Given the description of an element on the screen output the (x, y) to click on. 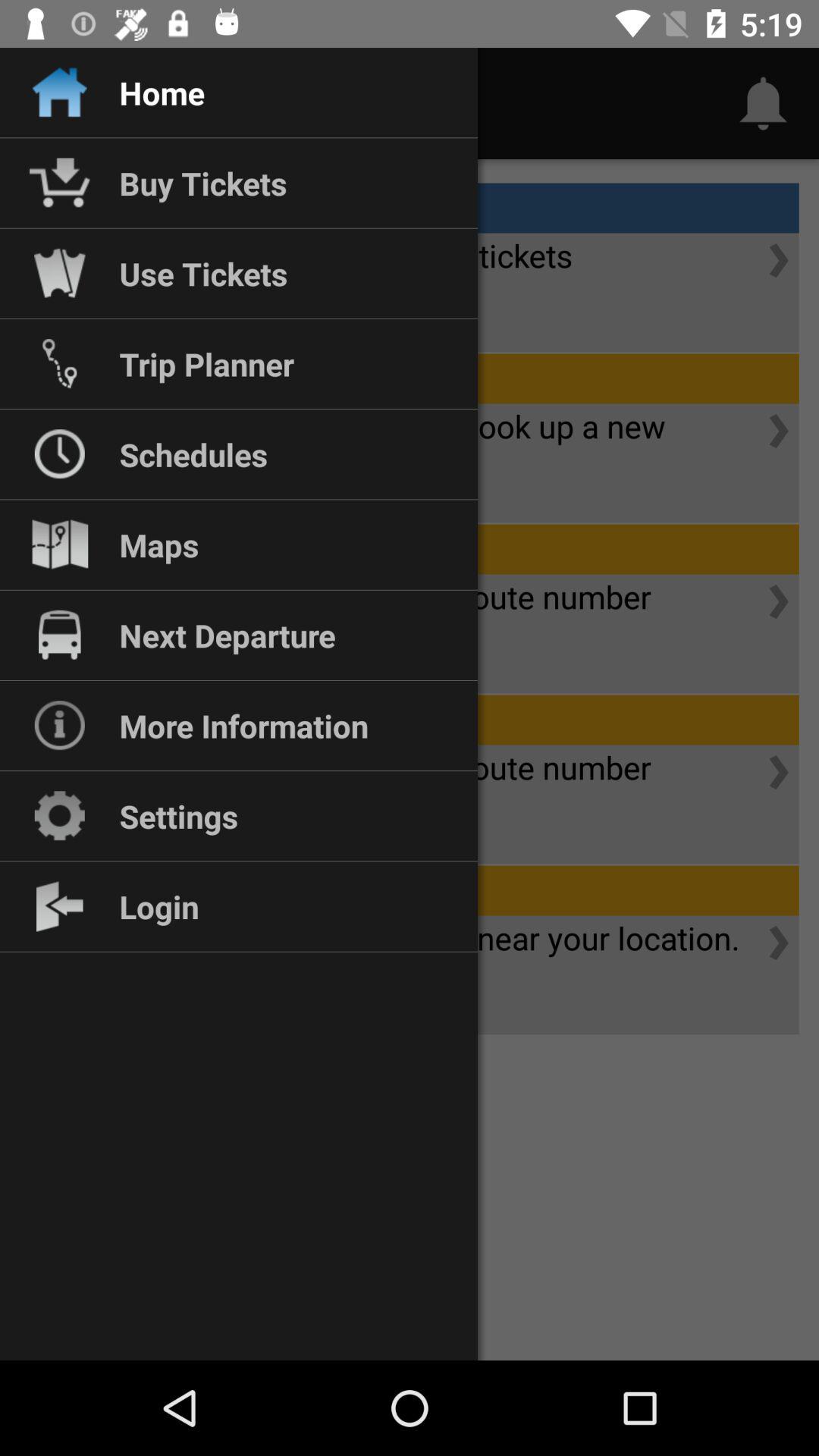
select bell icon which is on the top right corner of page (763, 103)
